Given the description of an element on the screen output the (x, y) to click on. 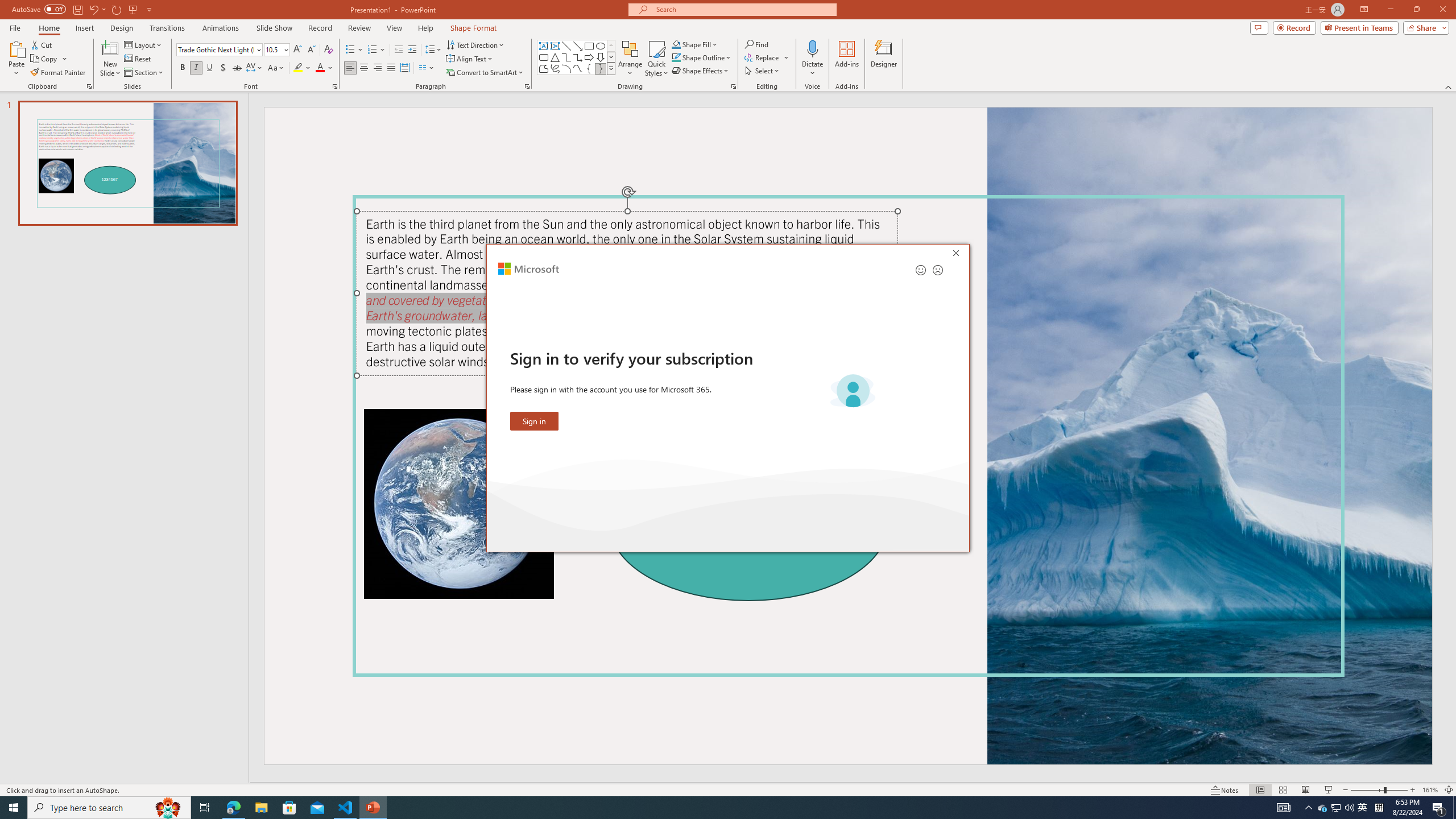
Center (363, 67)
Rectangle: Rounded Corners (543, 57)
Quick Styles (656, 58)
Left Brace (589, 68)
Arrow: Right (589, 57)
Arrow: Down (600, 57)
Increase Indent (412, 49)
Italic (195, 67)
Freeform: Scribble (554, 68)
Curve (577, 68)
